Given the description of an element on the screen output the (x, y) to click on. 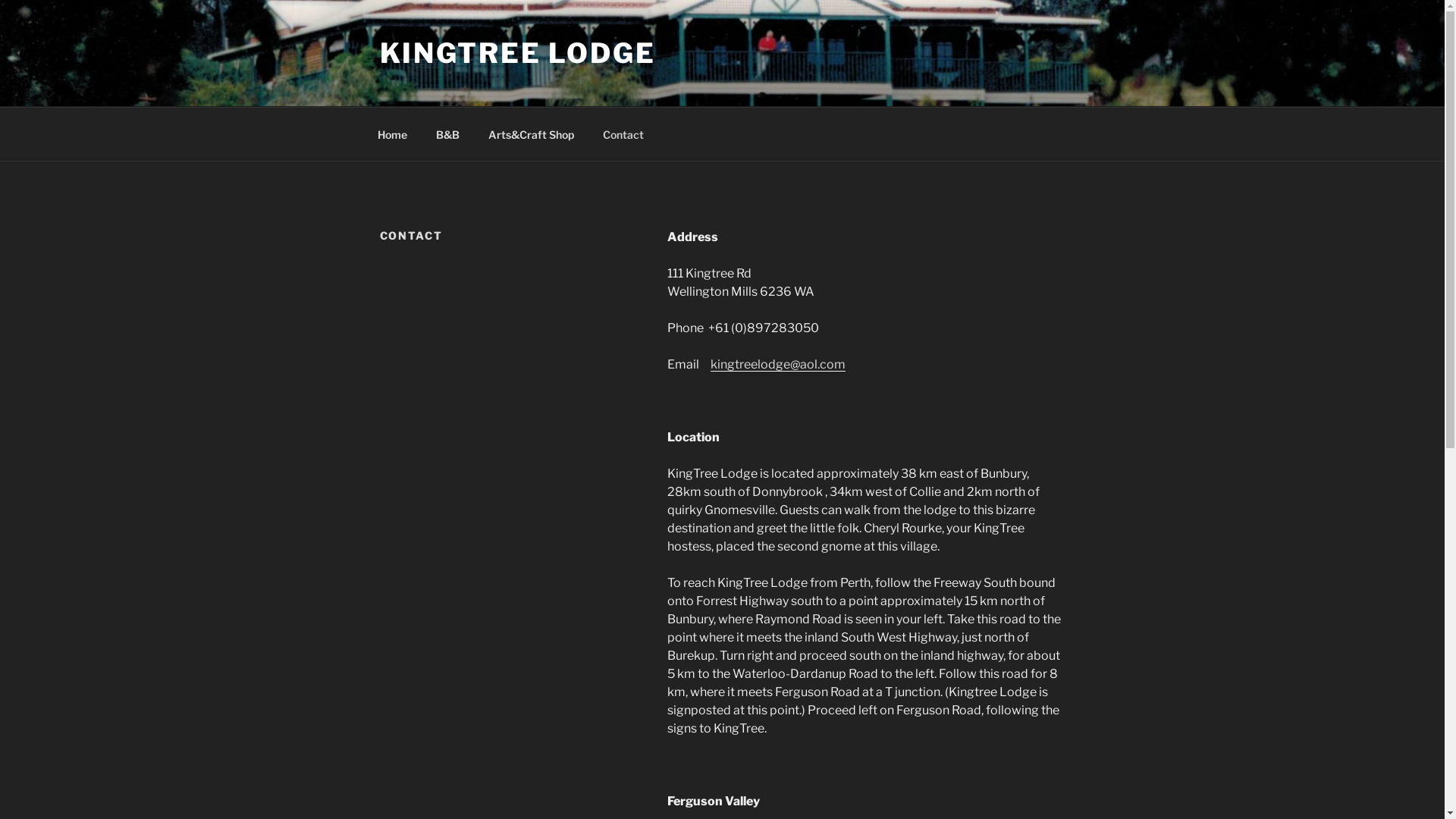
Skip to content Element type: text (0, 0)
KINGTREE LODGE Element type: text (517, 52)
B&B Element type: text (448, 133)
Contact Element type: text (623, 133)
Arts&Craft Shop Element type: text (530, 133)
Home Element type: text (392, 133)
kingtreelodge@aol.com Element type: text (777, 364)
